Given the description of an element on the screen output the (x, y) to click on. 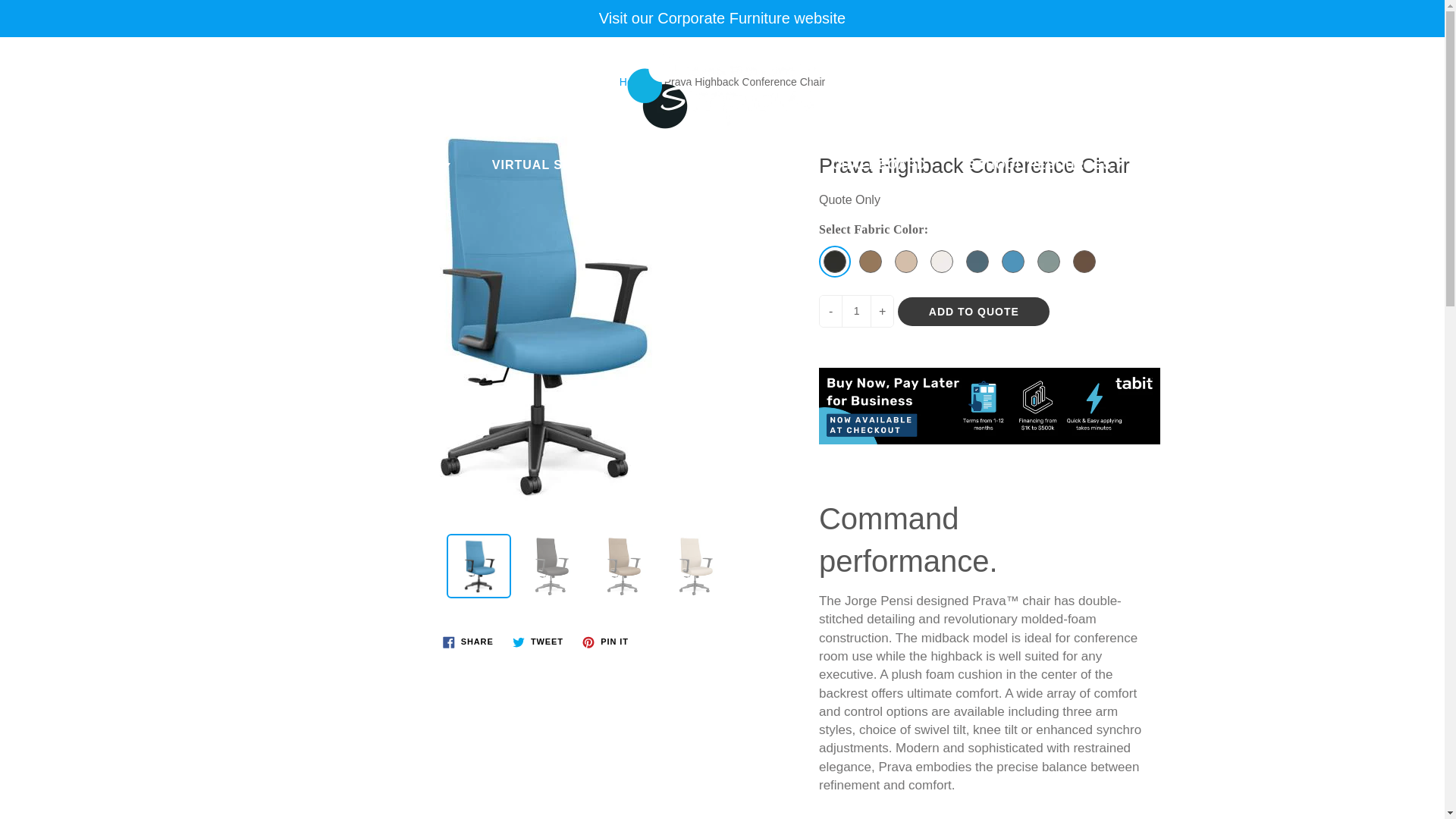
Home (633, 81)
You have 0 items in your cart (1417, 63)
HOME (341, 165)
Prava Highback Conference Chair (623, 565)
Prava Highback Conference Chair (694, 565)
SHOP (427, 165)
1 (855, 310)
My account (1379, 63)
Prava Highback Conference Chair (478, 566)
Search (28, 63)
Prava Highback Conference Chair (550, 565)
